Given the description of an element on the screen output the (x, y) to click on. 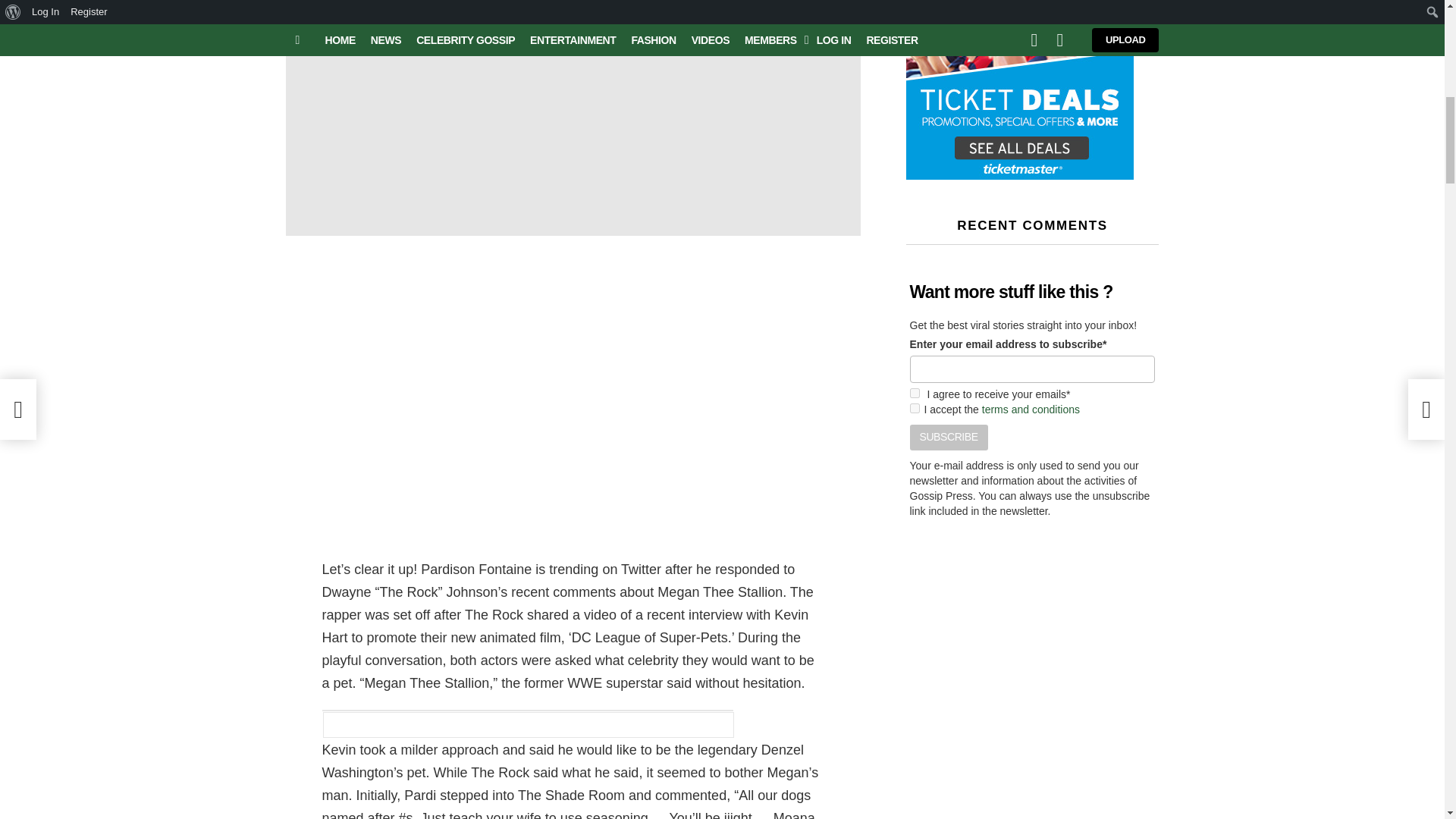
Subscribe (949, 437)
1 (915, 393)
on (915, 408)
